Given the description of an element on the screen output the (x, y) to click on. 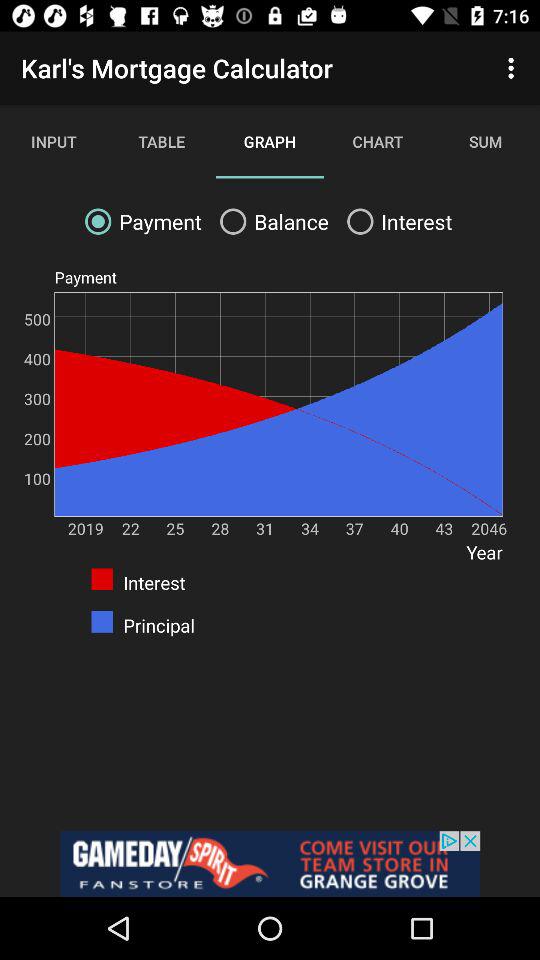
go to advertisement page (270, 864)
